Given the description of an element on the screen output the (x, y) to click on. 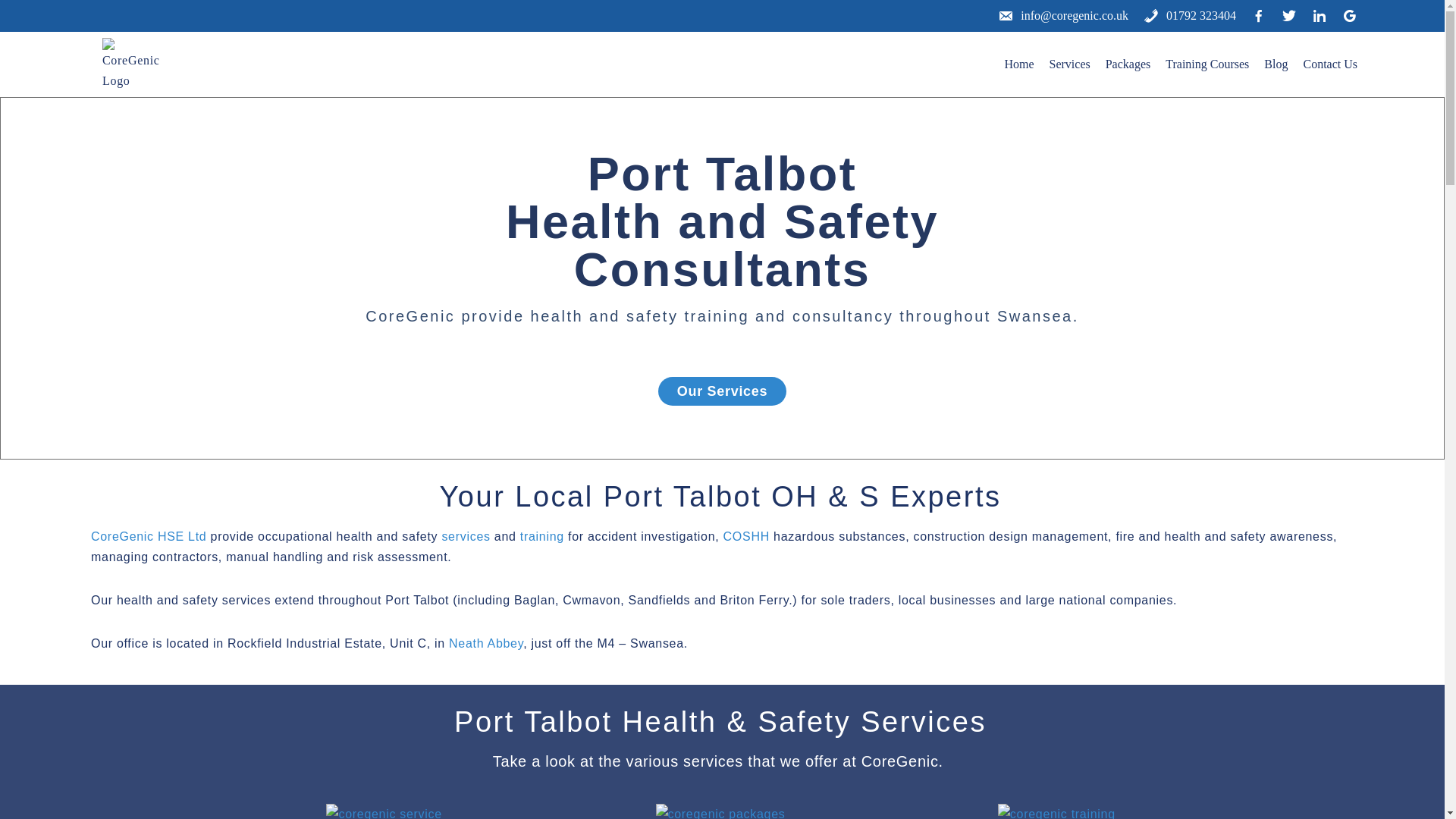
CoreGenic HSE Ltd (148, 535)
training (541, 535)
COSHH (746, 535)
Neath Abbey (485, 643)
CoreGenic HSE Ltd (135, 63)
Contact Us (1329, 64)
Blog (1275, 64)
Skip to content (11, 31)
Our Services (722, 390)
Training Courses (1207, 64)
